Given the description of an element on the screen output the (x, y) to click on. 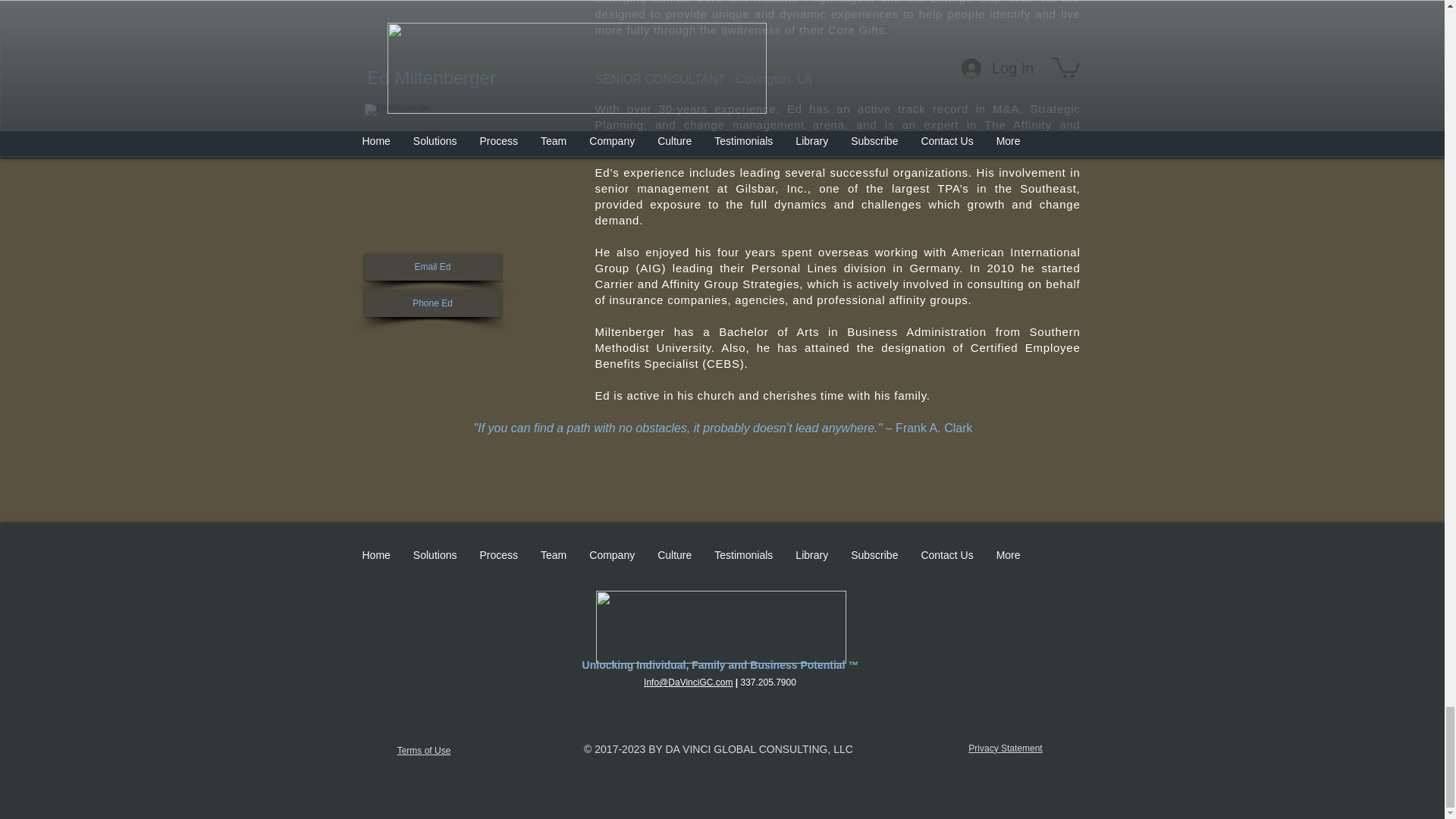
Email Ed (432, 266)
